Given the description of an element on the screen output the (x, y) to click on. 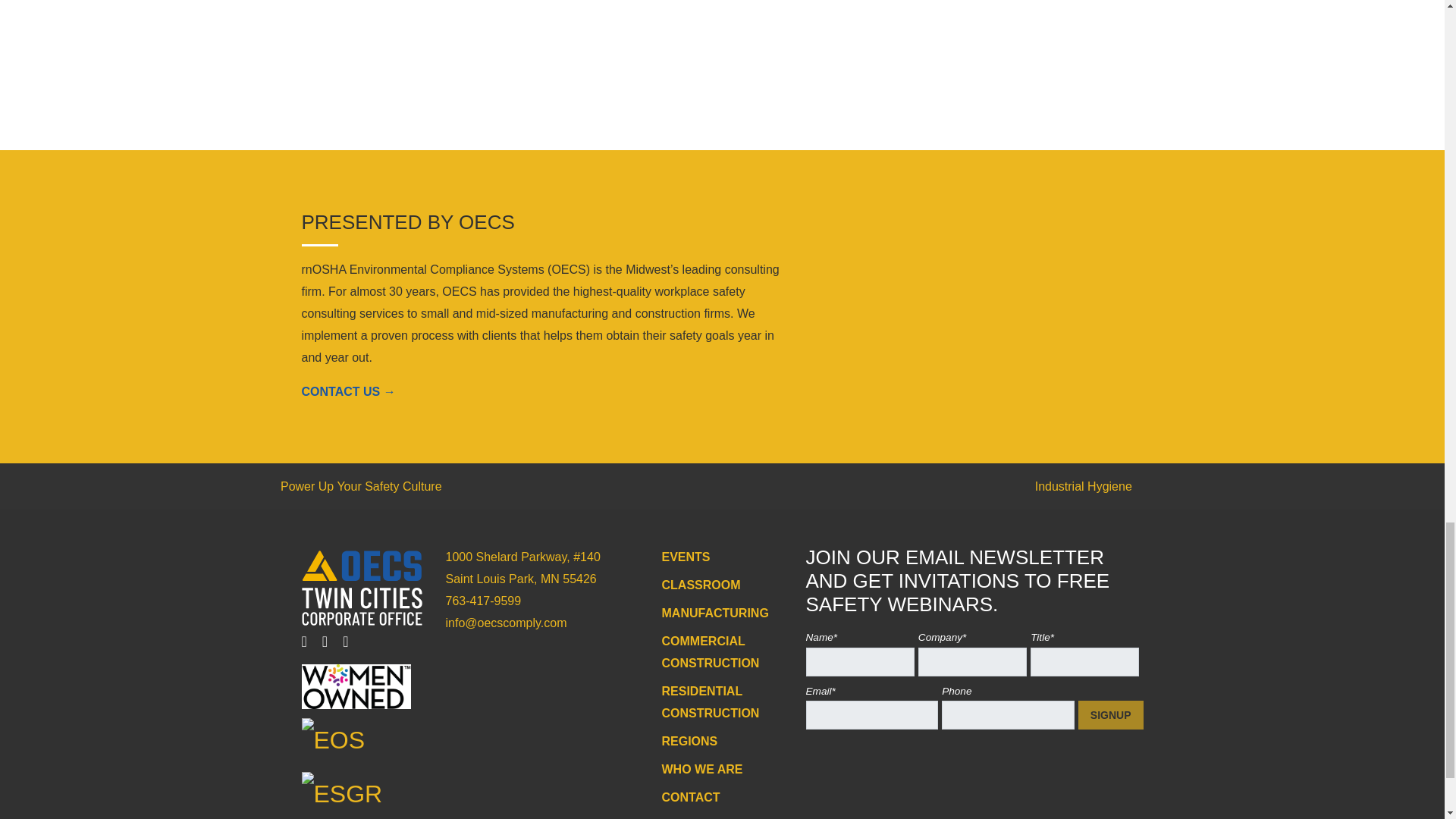
Signup (1110, 715)
